Given the description of an element on the screen output the (x, y) to click on. 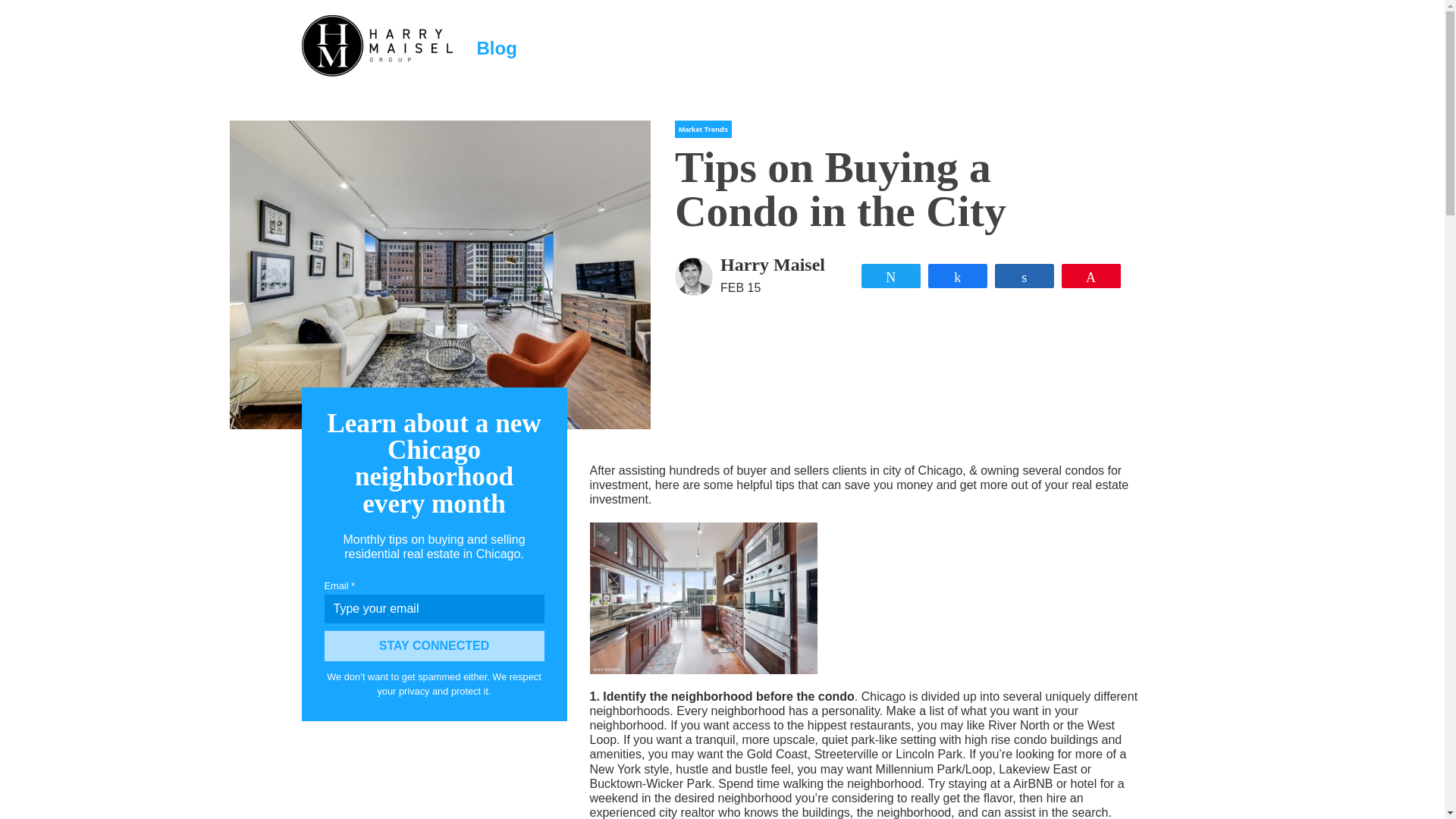
STAY CONNECTED (434, 645)
Blog (496, 47)
Market Trends (703, 129)
